Given the description of an element on the screen output the (x, y) to click on. 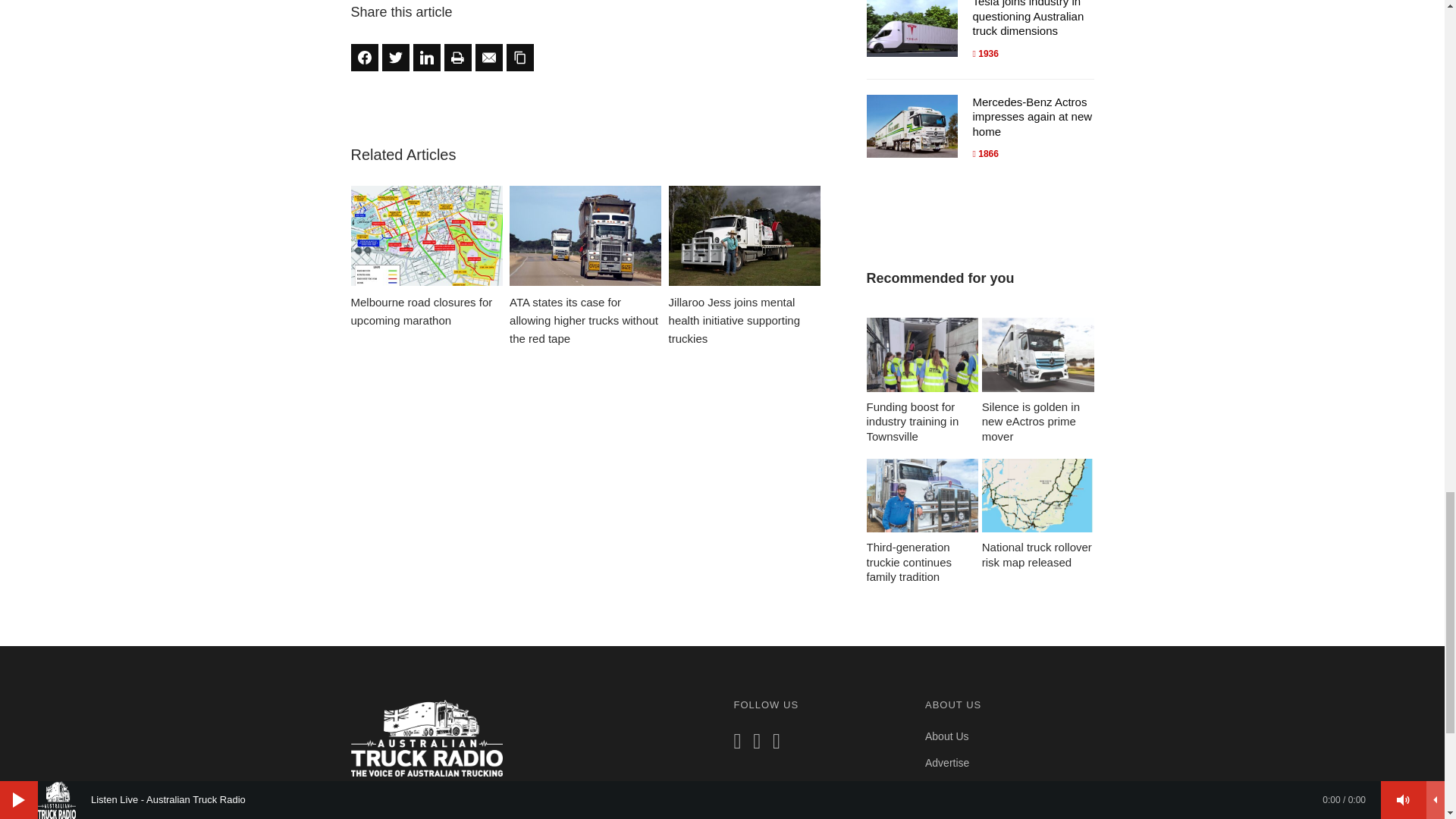
Share on Twitter (395, 57)
Share on Facebook (363, 57)
Melbourne road closures for upcoming marathon (426, 257)
